Given the description of an element on the screen output the (x, y) to click on. 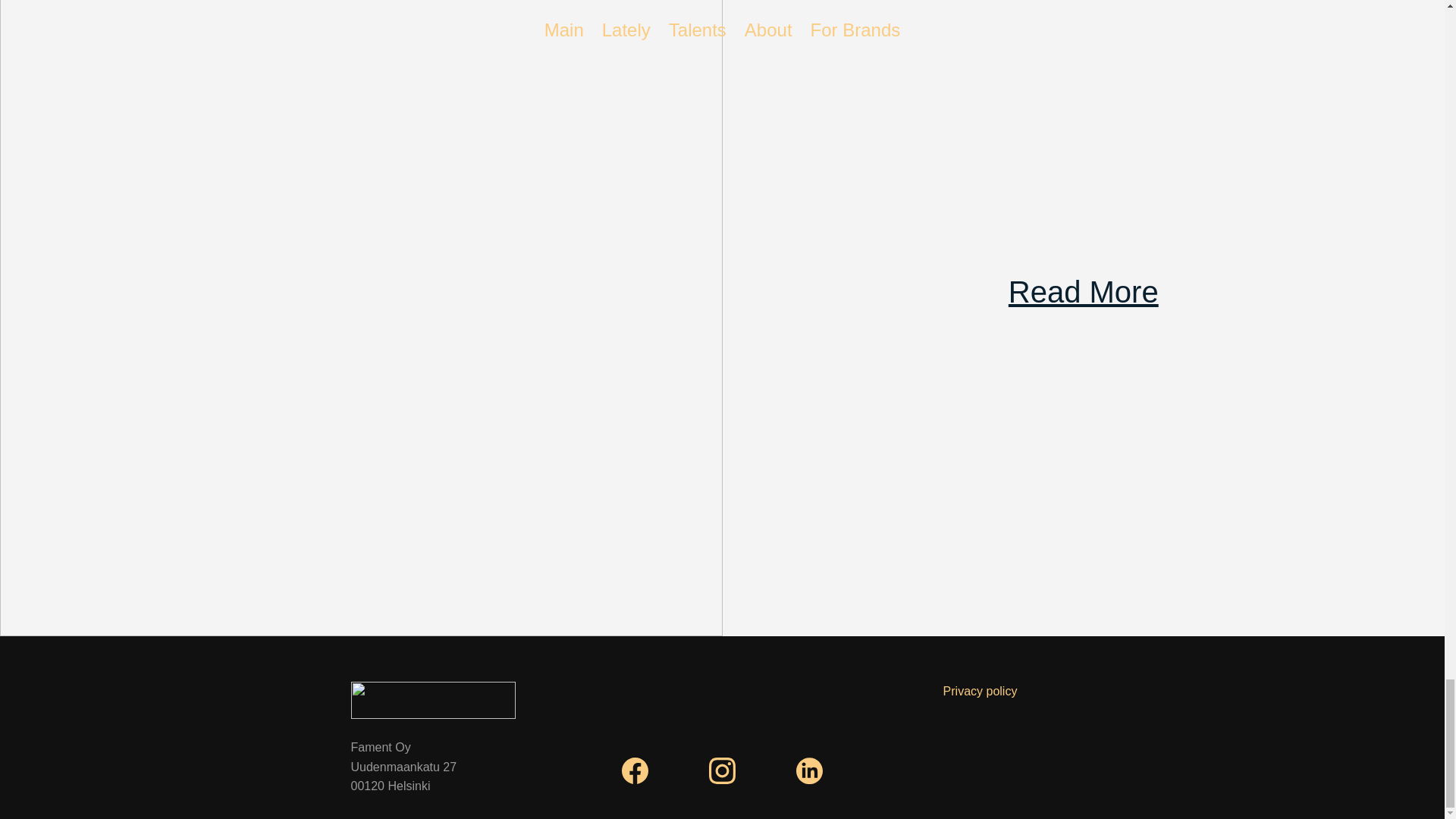
Read More (1083, 291)
Privacy policy (980, 690)
